Given the description of an element on the screen output the (x, y) to click on. 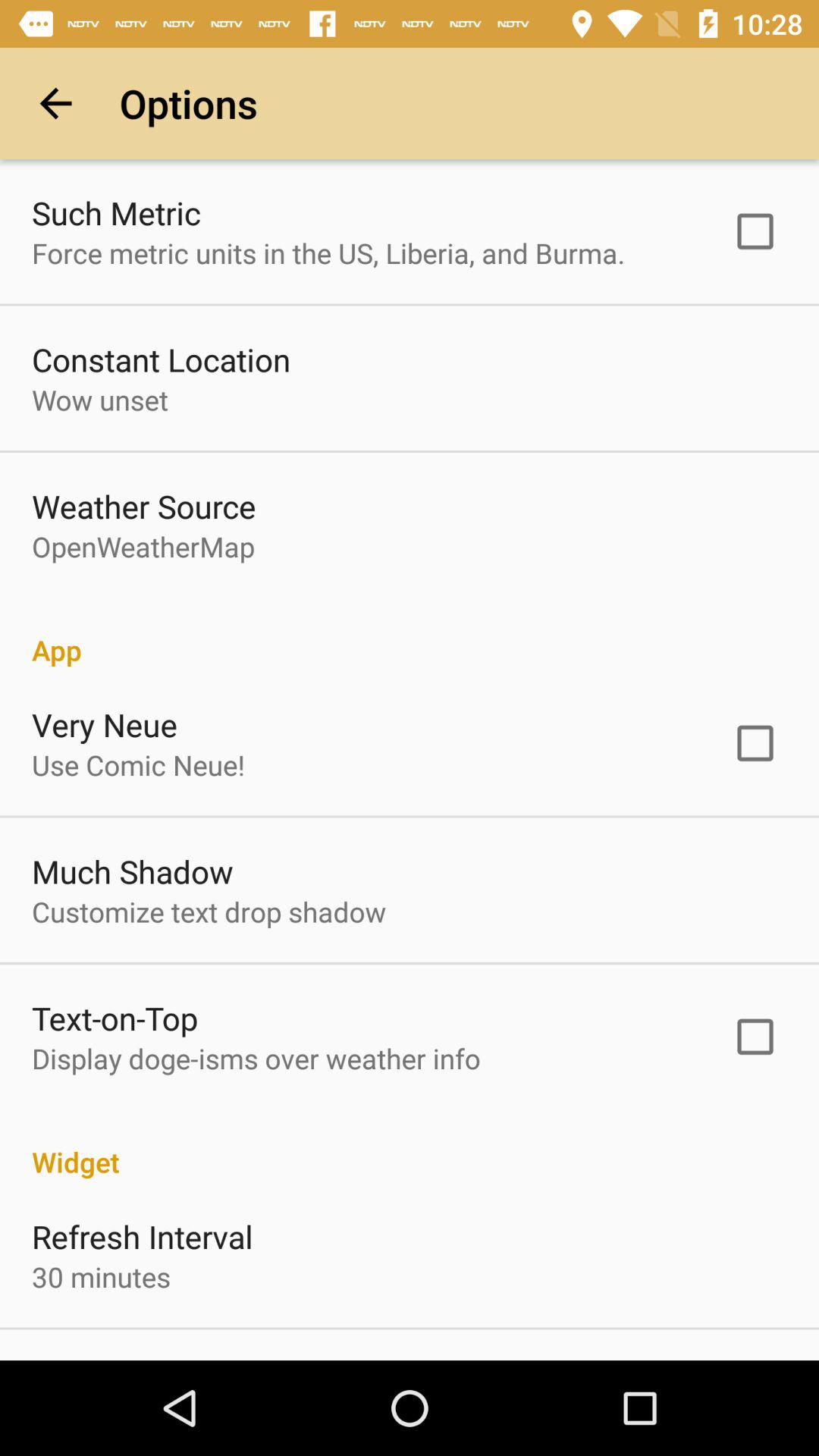
scroll to the use comic neue! item (138, 764)
